Given the description of an element on the screen output the (x, y) to click on. 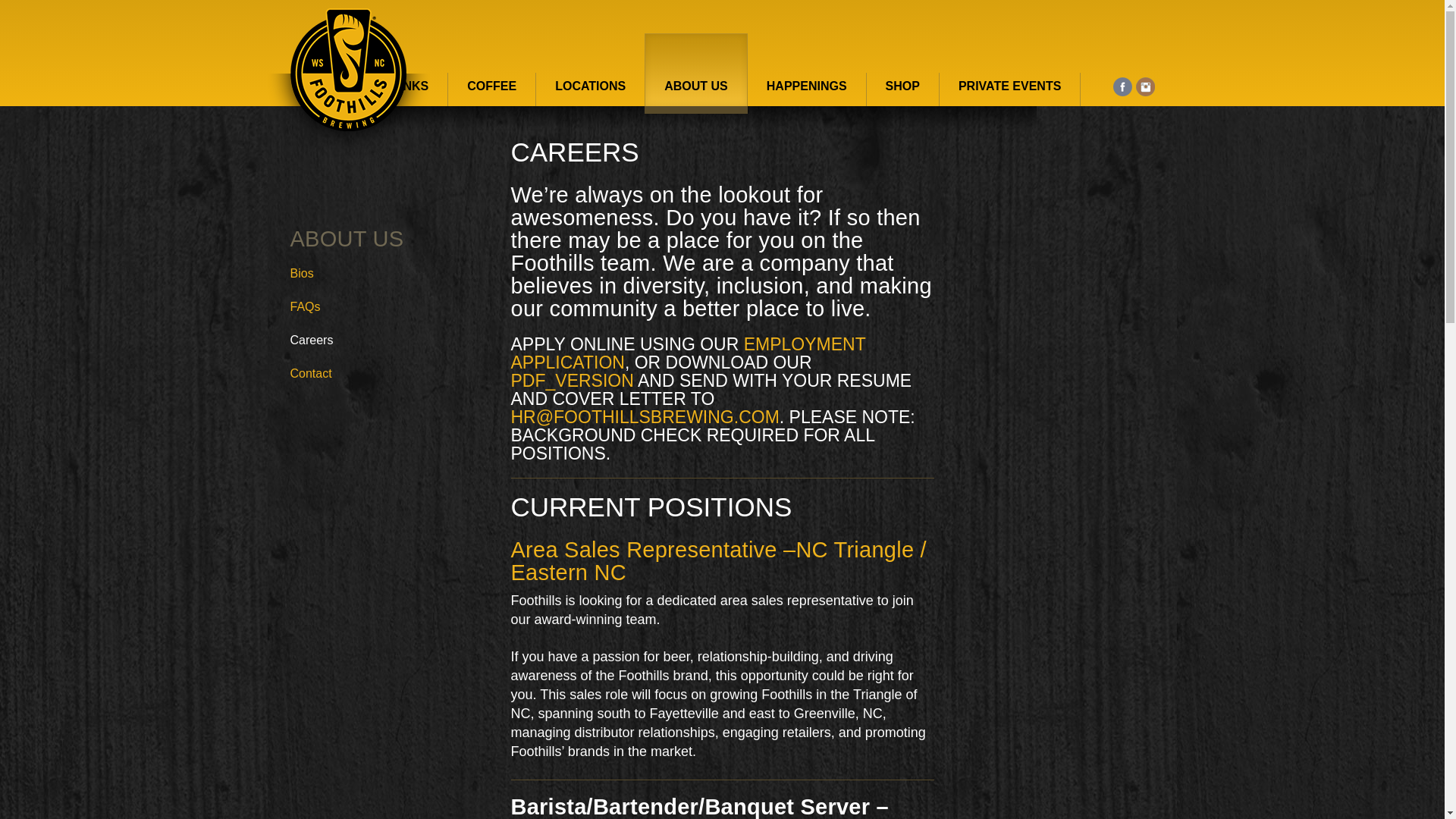
Foothills Brewing EST. 2004 WSNC (347, 81)
About Us (346, 238)
LOCATIONS (590, 89)
COFFEE (491, 89)
DRINKS (404, 89)
Careers (311, 339)
BEER (326, 89)
Bios (301, 273)
FAQs (304, 306)
Contact (310, 373)
